Given the description of an element on the screen output the (x, y) to click on. 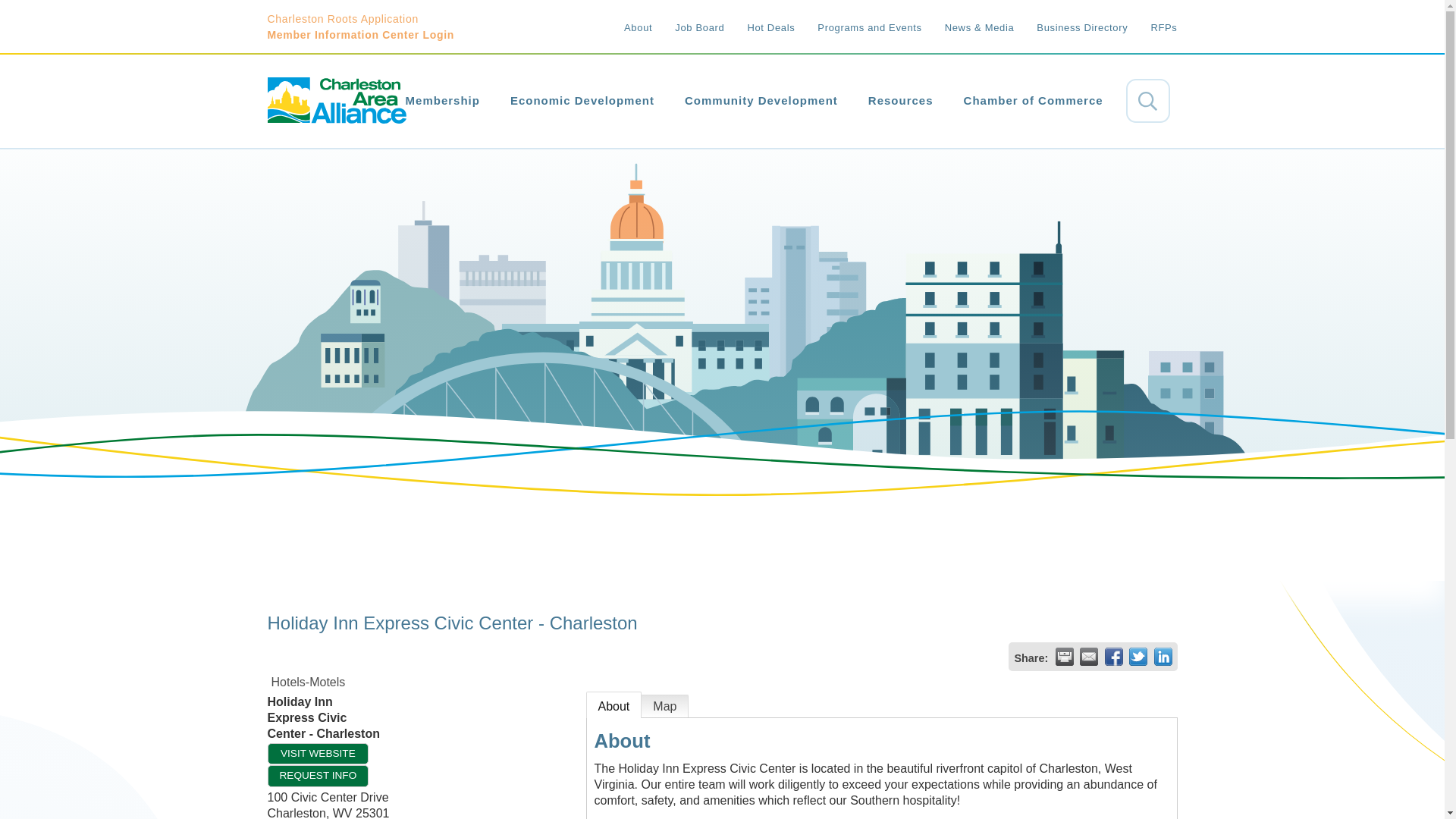
Hot Deals (758, 26)
About (626, 26)
Member Information Center Login  (361, 34)
Share on Facebook (1113, 656)
Share on LinkedIn (1163, 656)
Membership (442, 100)
Print this page (1064, 656)
Economic Development (582, 100)
Chamber of Commerce (1033, 100)
Share by Email (1088, 656)
